Given the description of an element on the screen output the (x, y) to click on. 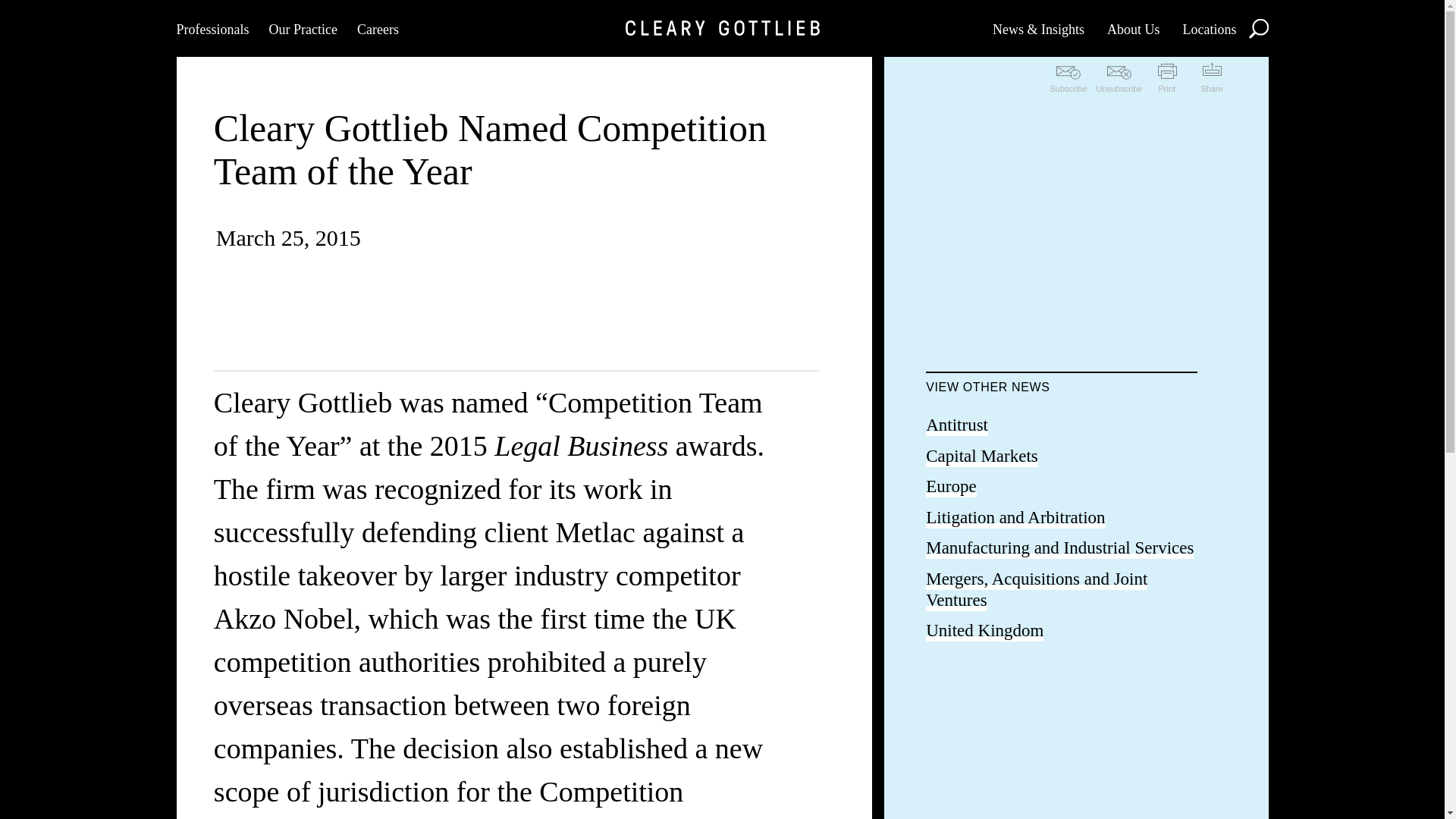
Our Practice (301, 28)
Home (721, 28)
Our Practice (301, 28)
Professionals (212, 28)
About Us (1133, 28)
Locations (1209, 28)
Professionals (212, 28)
Locations (1209, 28)
About Us (1133, 28)
Search (1257, 27)
